Given the description of an element on the screen output the (x, y) to click on. 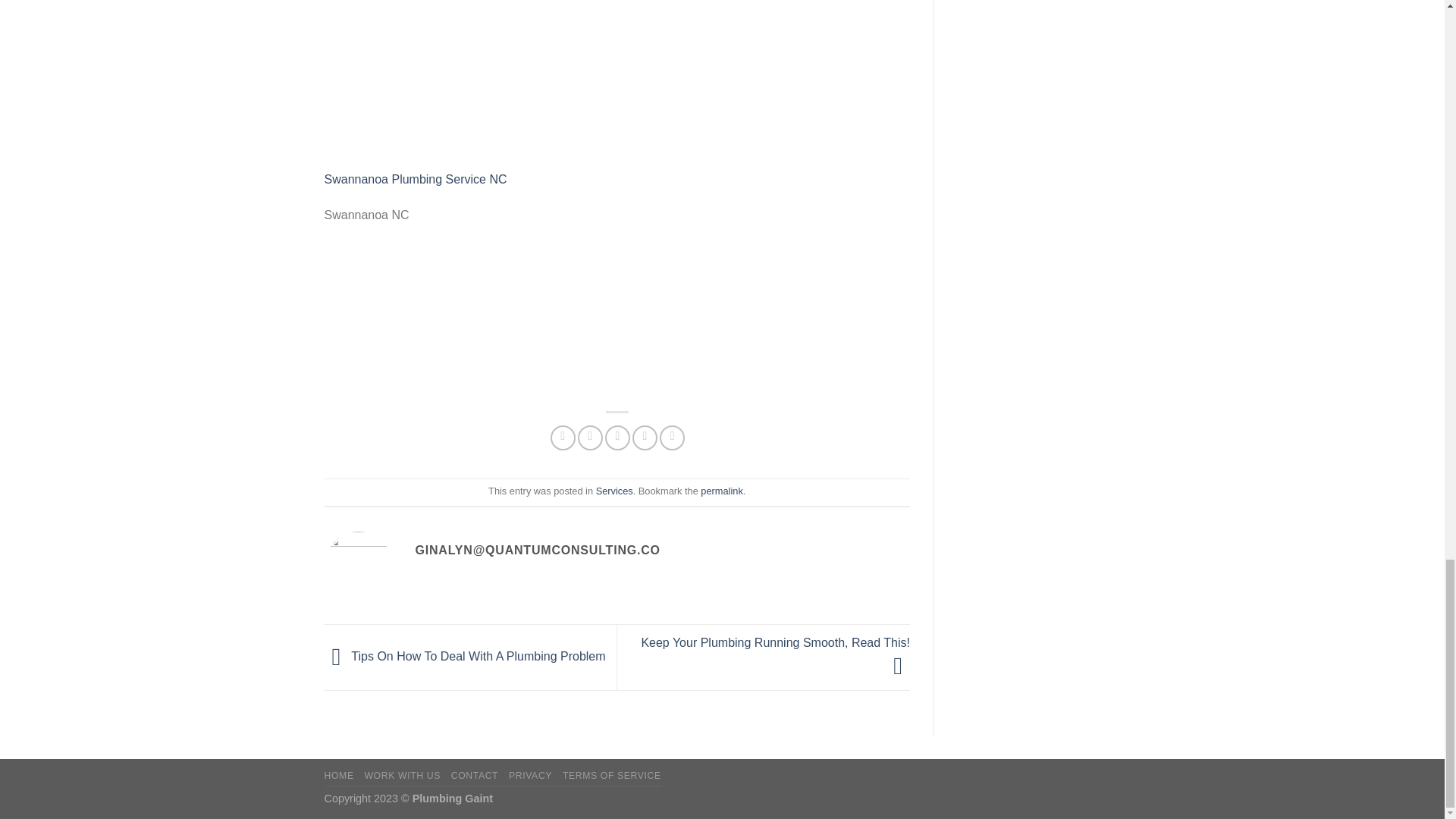
Swannanoa Plumbing Service NC (415, 178)
Services (614, 490)
Keep Your Plumbing Running Smooth, Read This! (775, 654)
Permalink to Plumbing Tips That You Can do At Home (721, 490)
PRIVACY (529, 775)
Tips On How To Deal With A Plumbing Problem (464, 656)
CONTACT (475, 775)
permalink (721, 490)
WORK WITH US (401, 775)
HOME (338, 775)
